Given the description of an element on the screen output the (x, y) to click on. 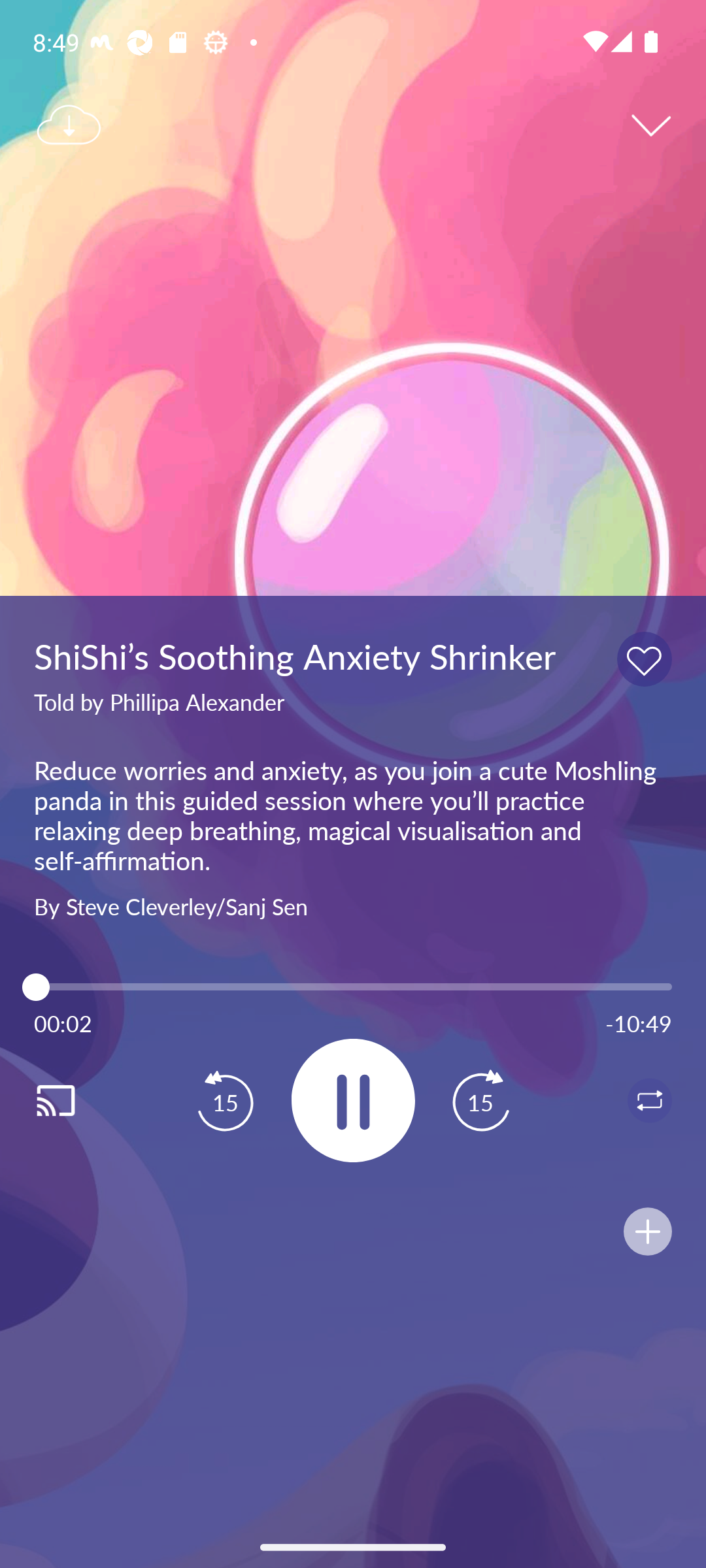
1.0 (352, 986)
Cast. Disconnected (76, 1100)
